Given the description of an element on the screen output the (x, y) to click on. 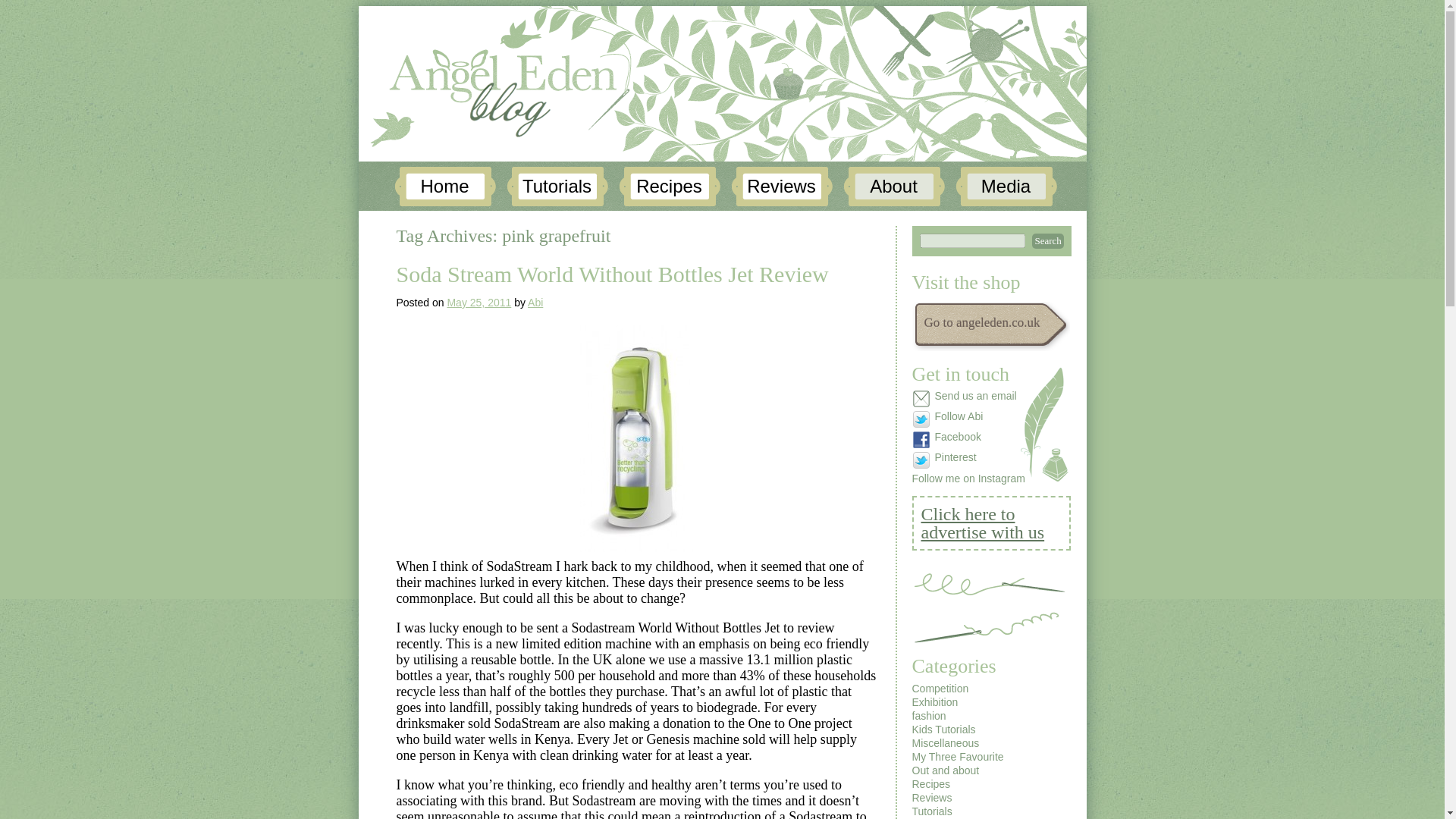
Kids Tutorials (943, 729)
Reviews (781, 186)
Soda Stream World Without Bottles Jet Review (612, 273)
Follow Abi (968, 419)
May 25, 2011 (478, 302)
Abi (535, 302)
Recipes (669, 186)
View all posts by Abi (535, 302)
Media (1006, 186)
Facebook (968, 439)
